Given the description of an element on the screen output the (x, y) to click on. 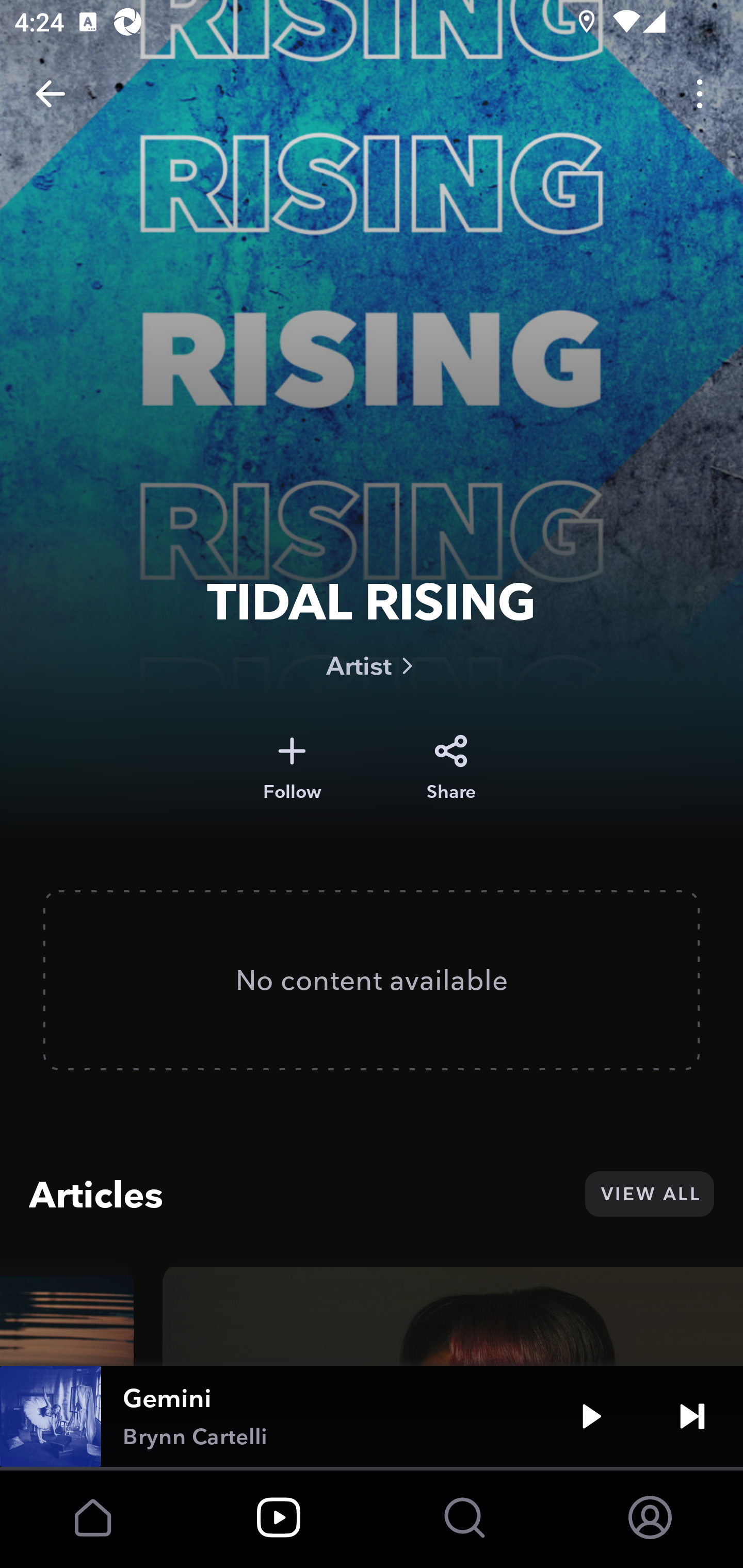
Options (699, 93)
Artist (371, 665)
Follow (291, 767)
Share (450, 767)
VIEW ALL (649, 1193)
Gemini Brynn Cartelli Play (371, 1416)
Play (590, 1416)
